Given the description of an element on the screen output the (x, y) to click on. 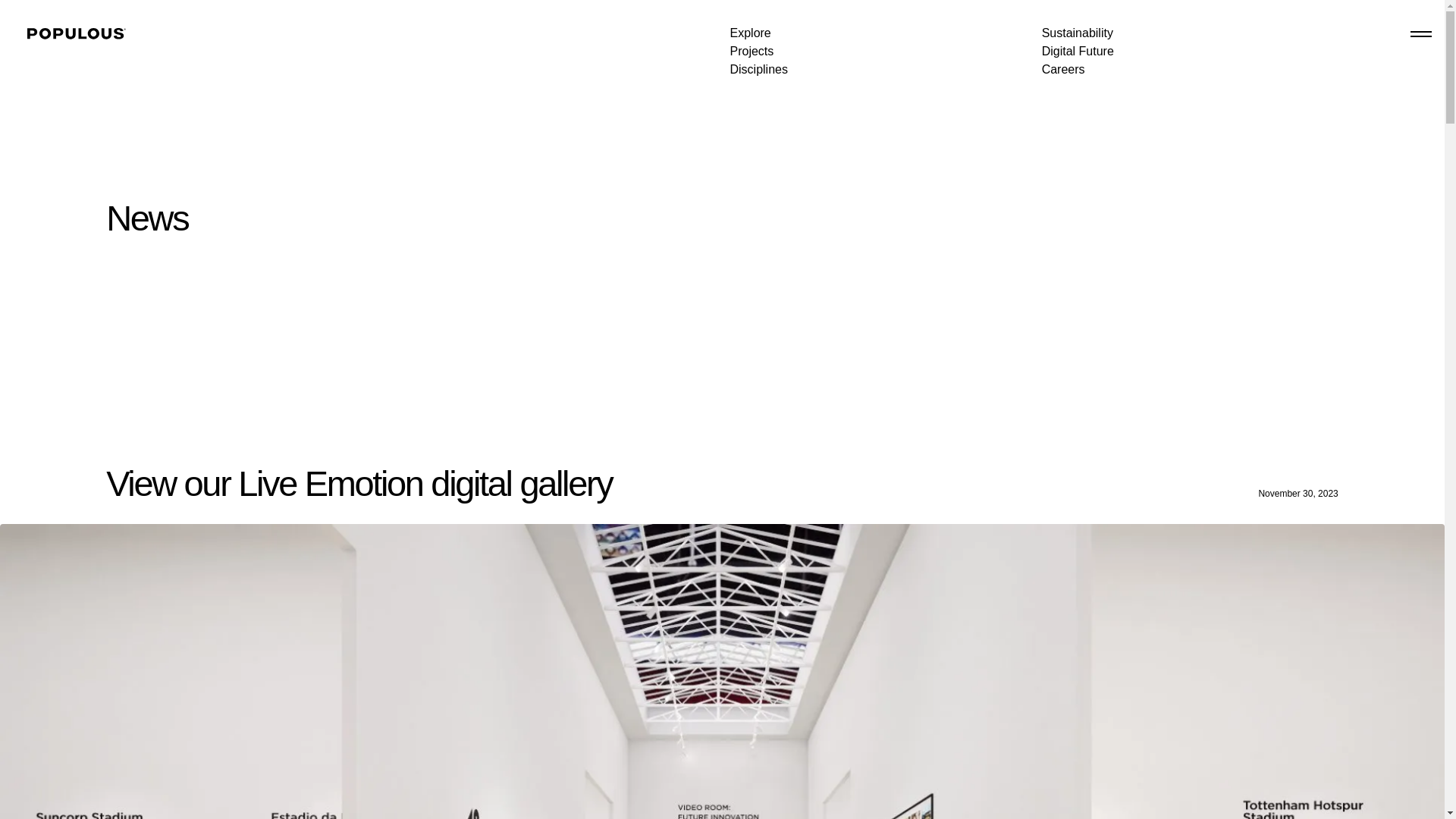
Disciplines (758, 72)
Sustainability (1077, 33)
Projects (751, 52)
Explore (749, 33)
Digital Future (1077, 53)
Careers (1063, 73)
